Given the description of an element on the screen output the (x, y) to click on. 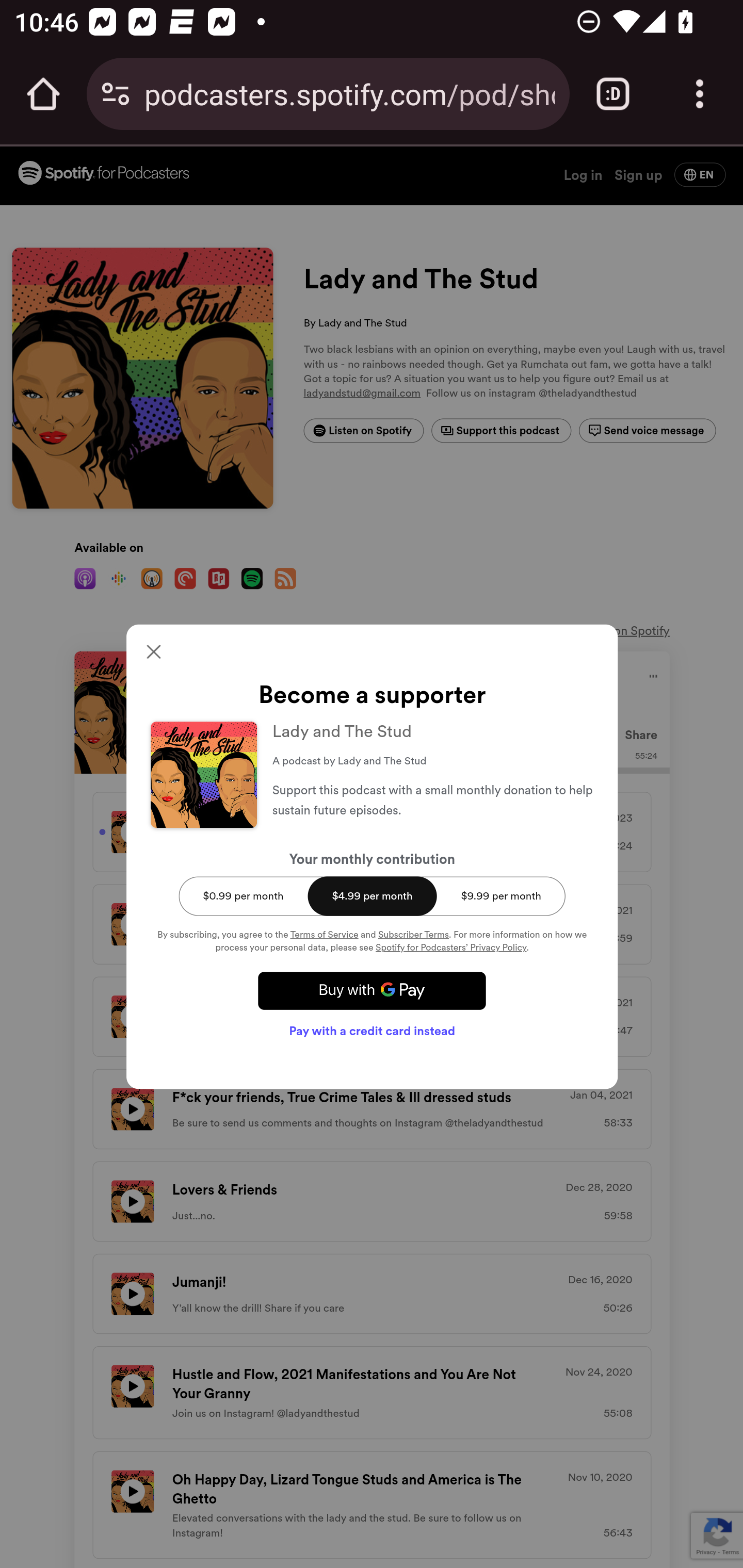
Open the home page (43, 93)
Connection is secure (115, 93)
Switch or close tabs (612, 93)
Customize and control Google Chrome (699, 93)
Privacy (705, 1552)
Terms (730, 1552)
